Given the description of an element on the screen output the (x, y) to click on. 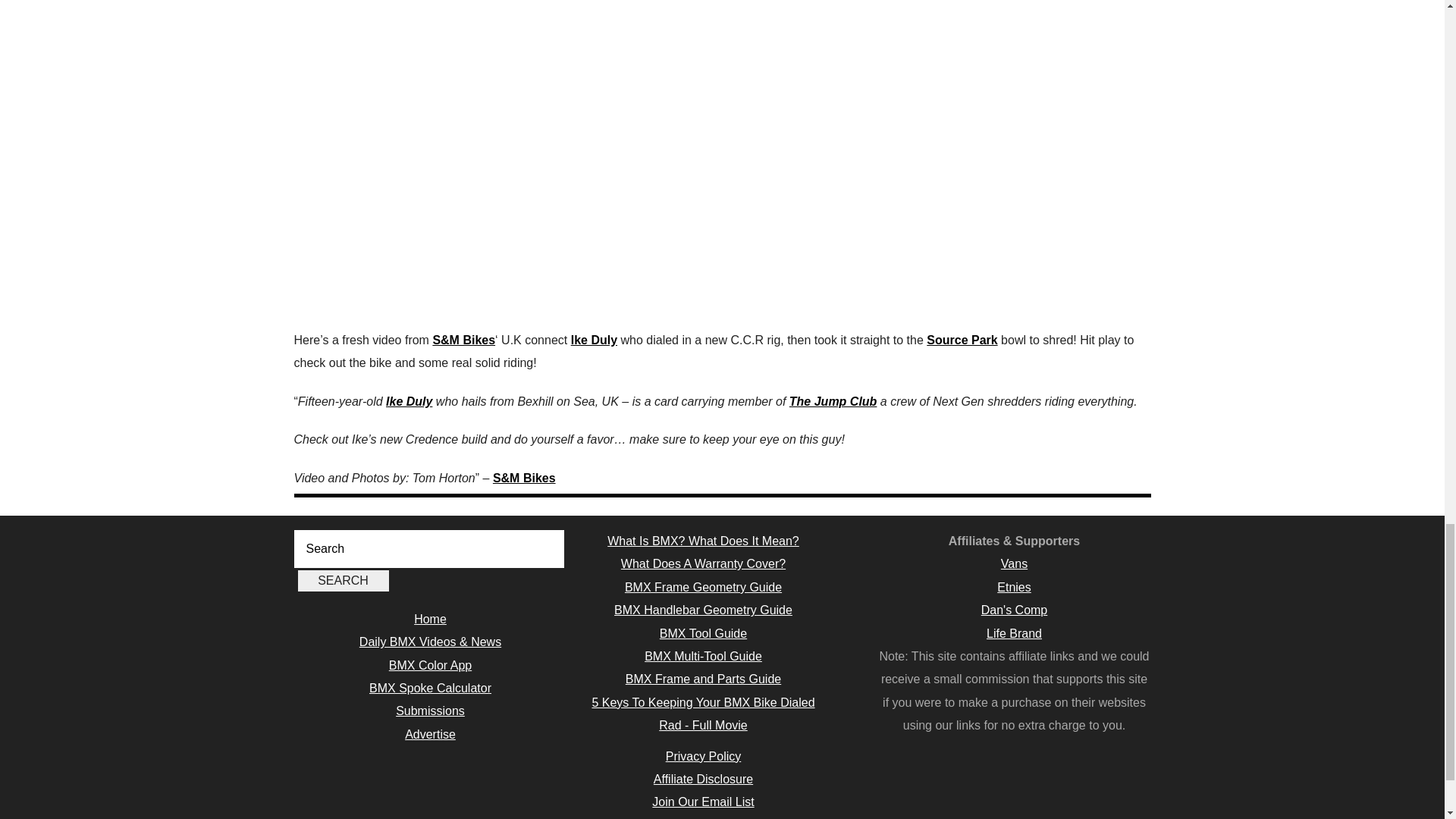
Search (342, 580)
Search (342, 580)
Ike Duly (593, 339)
